Given the description of an element on the screen output the (x, y) to click on. 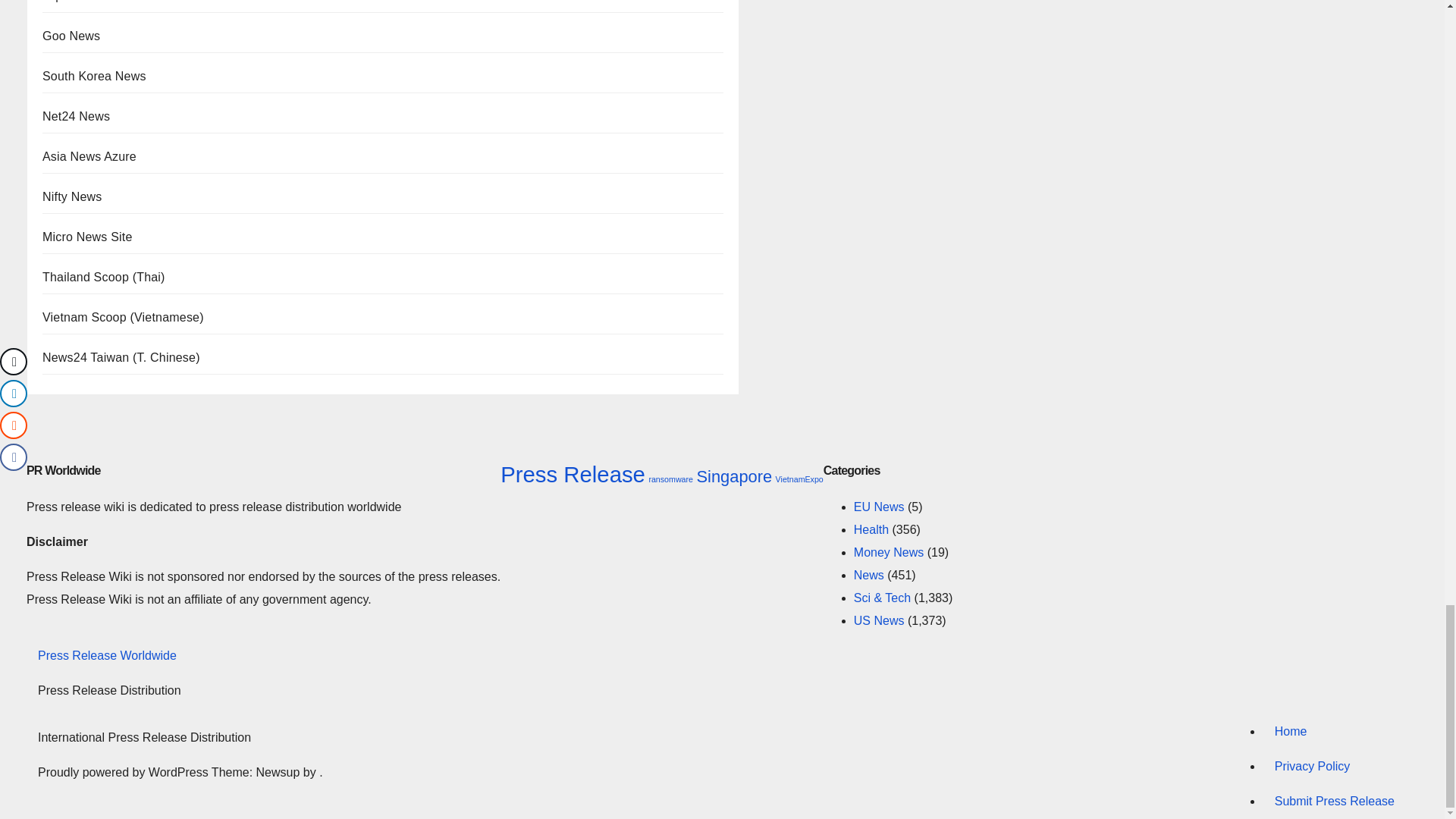
Home (1334, 731)
